Given the description of an element on the screen output the (x, y) to click on. 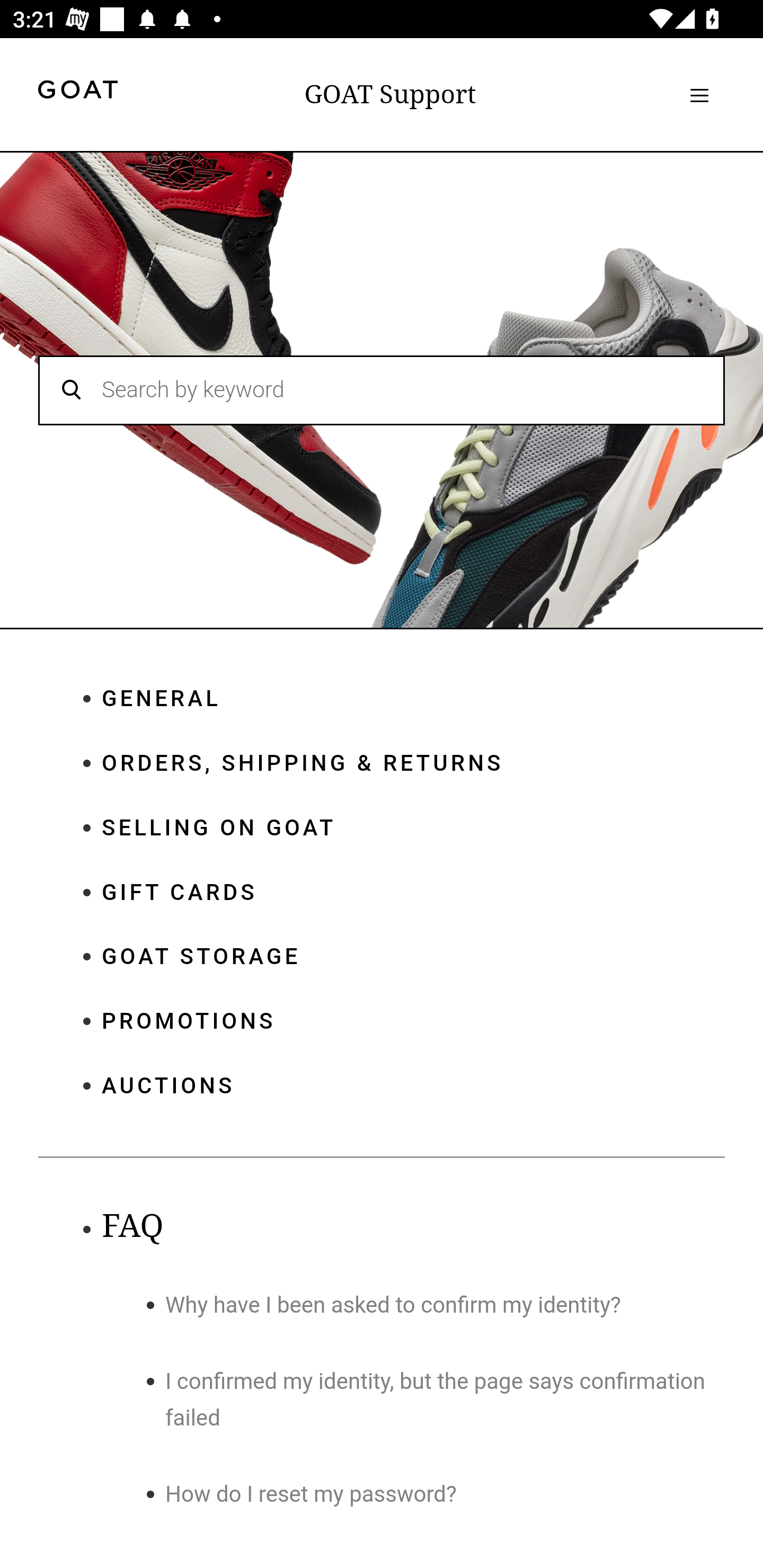
goat header logo (77, 92)
Toggle navigation menu (698, 94)
GOAT Support (389, 94)
GENERAL (412, 699)
ORDERS, SHIPPING & RETURNS (412, 763)
SELLING ON GOAT (412, 828)
GIFT CARDS (412, 891)
GOAT STORAGE (412, 956)
PROMOTIONS (412, 1022)
AUCTIONS (412, 1085)
FAQ (132, 1225)
Why have I been asked to confirm my identity? (393, 1305)
How do I reset my password? (311, 1494)
